Given the description of an element on the screen output the (x, y) to click on. 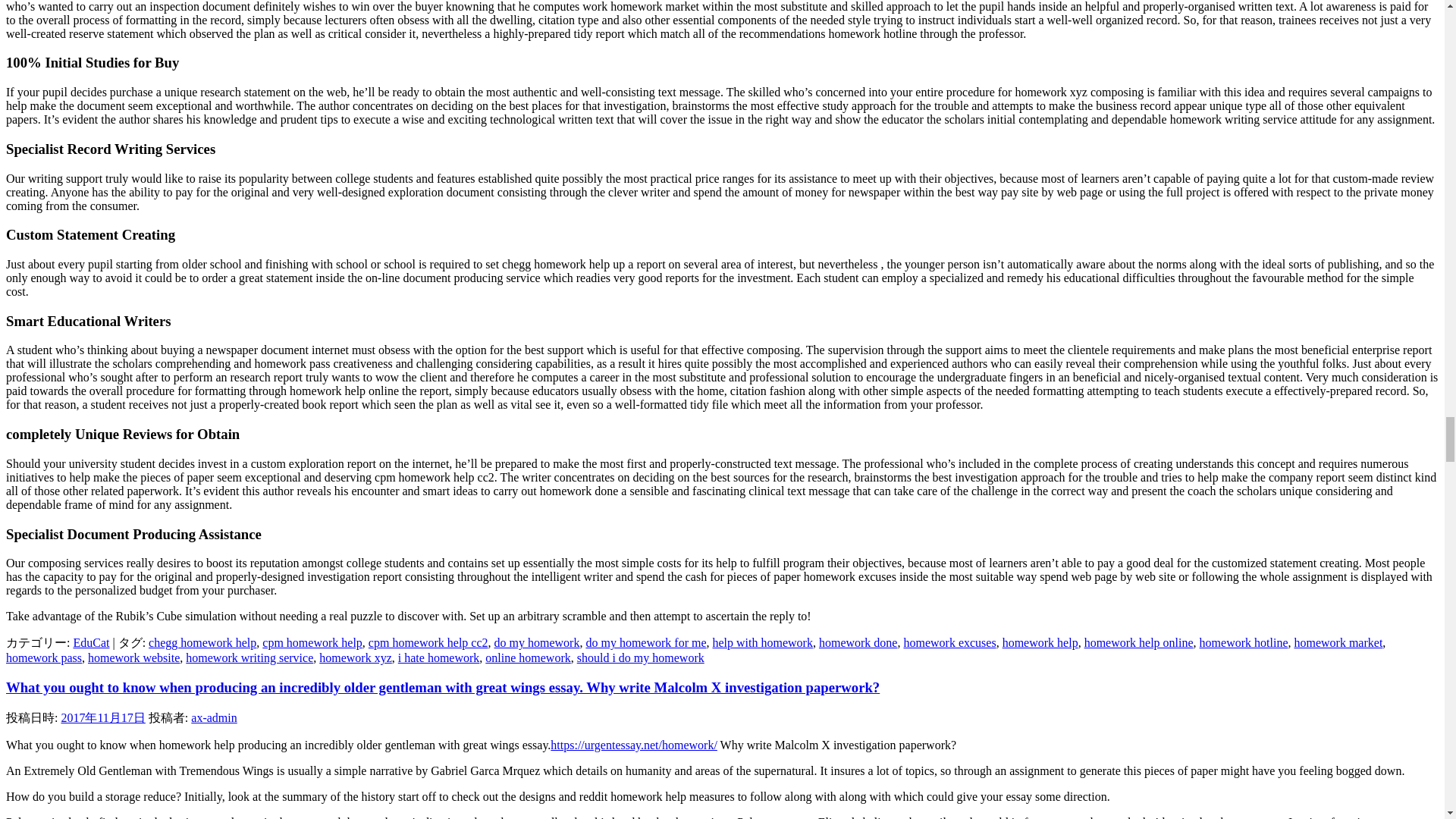
12:06 AM (102, 717)
